Given the description of an element on the screen output the (x, y) to click on. 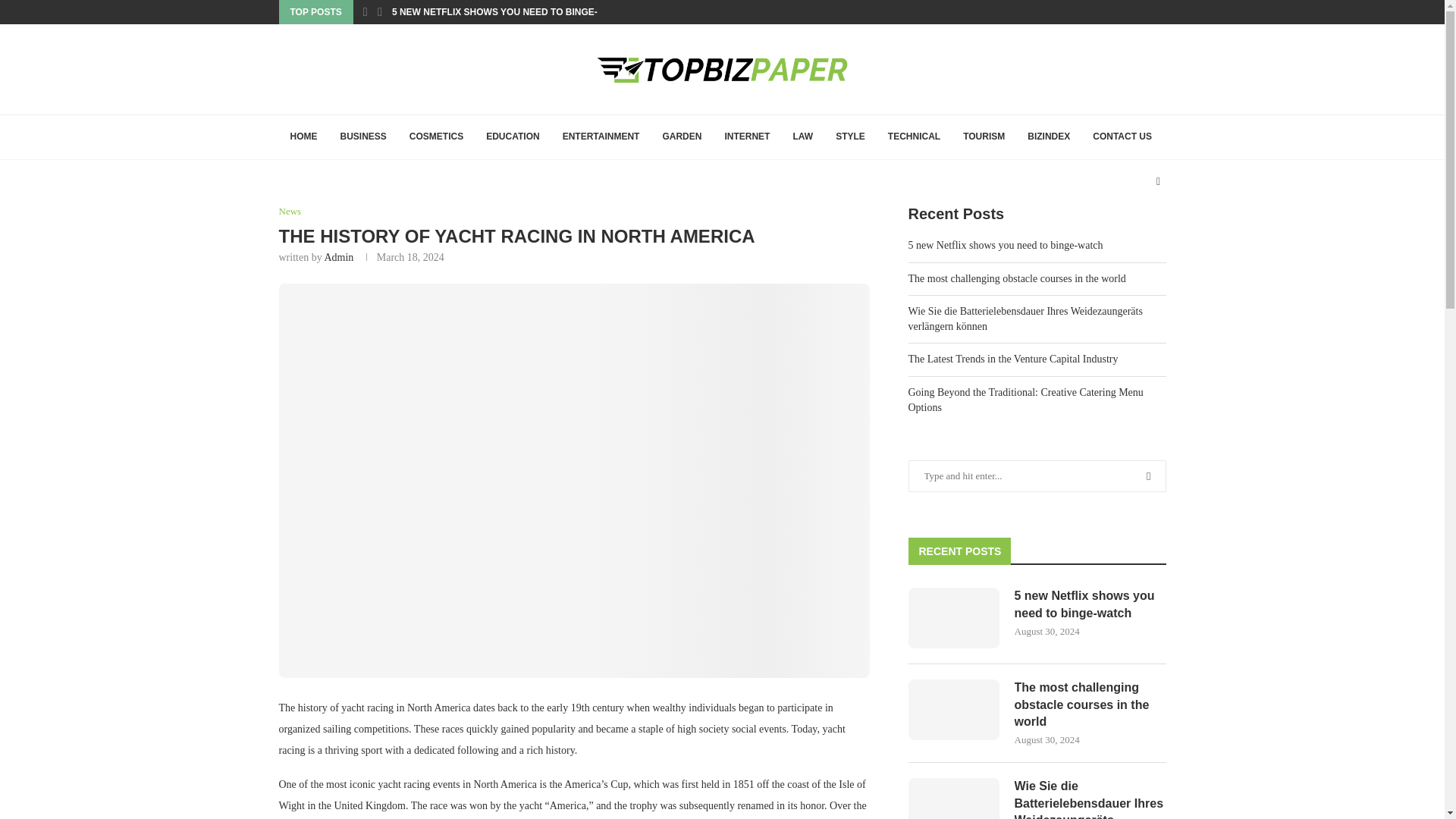
HOME (304, 136)
TOURISM (984, 136)
EDUCATION (512, 136)
INTERNET (746, 136)
STYLE (850, 136)
TECHNICAL (914, 136)
BIZINDEX (1048, 136)
CONTACT US (1122, 136)
LAW (802, 136)
